Given the description of an element on the screen output the (x, y) to click on. 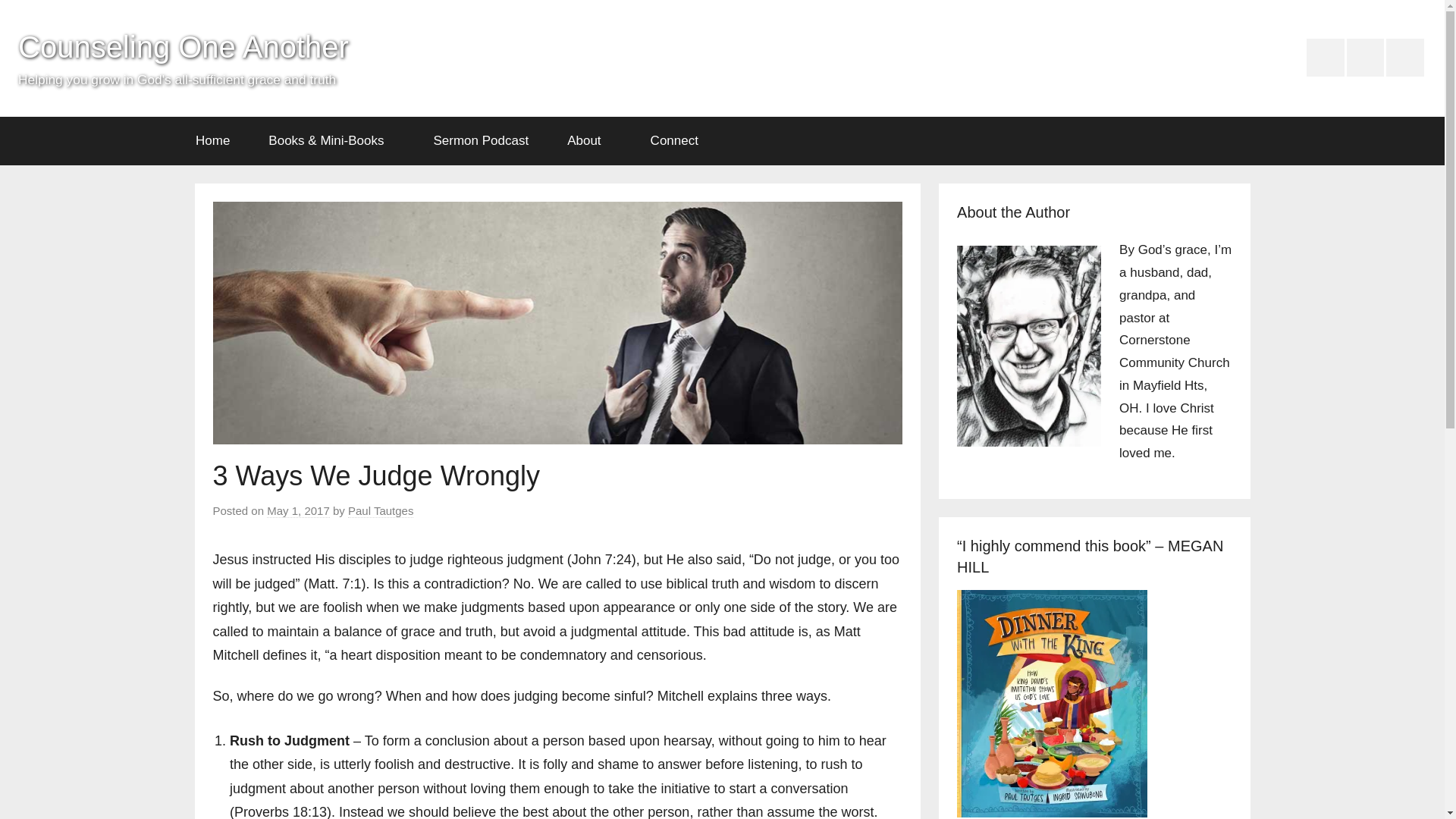
May 1, 2017 (298, 510)
Paul Tautges (380, 510)
Facebook (1324, 57)
View all posts by Paul Tautges (380, 510)
Connect (679, 141)
Twitter (1404, 57)
Counseling One Another (183, 46)
Sermon Podcast (480, 141)
About (589, 141)
Home (212, 141)
